Given the description of an element on the screen output the (x, y) to click on. 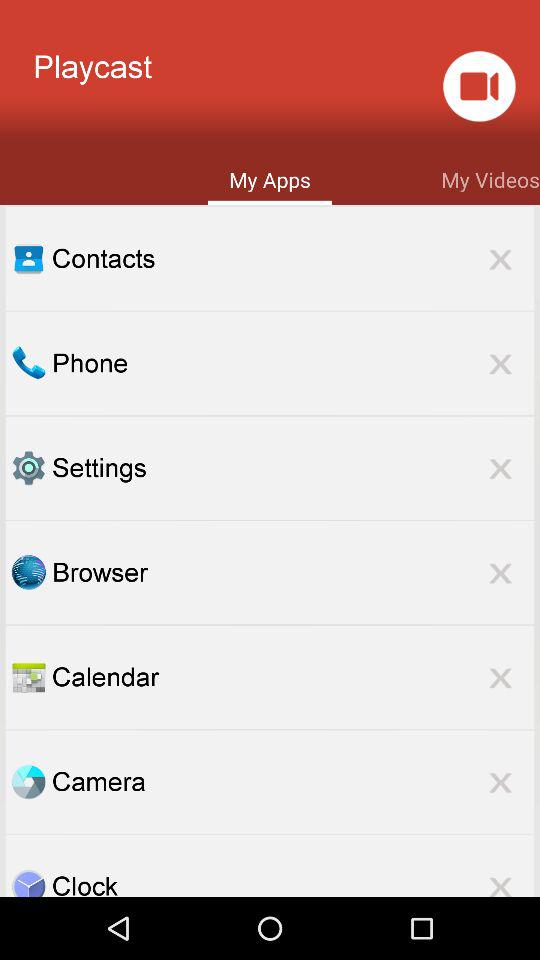
launch calendar icon (293, 676)
